Given the description of an element on the screen output the (x, y) to click on. 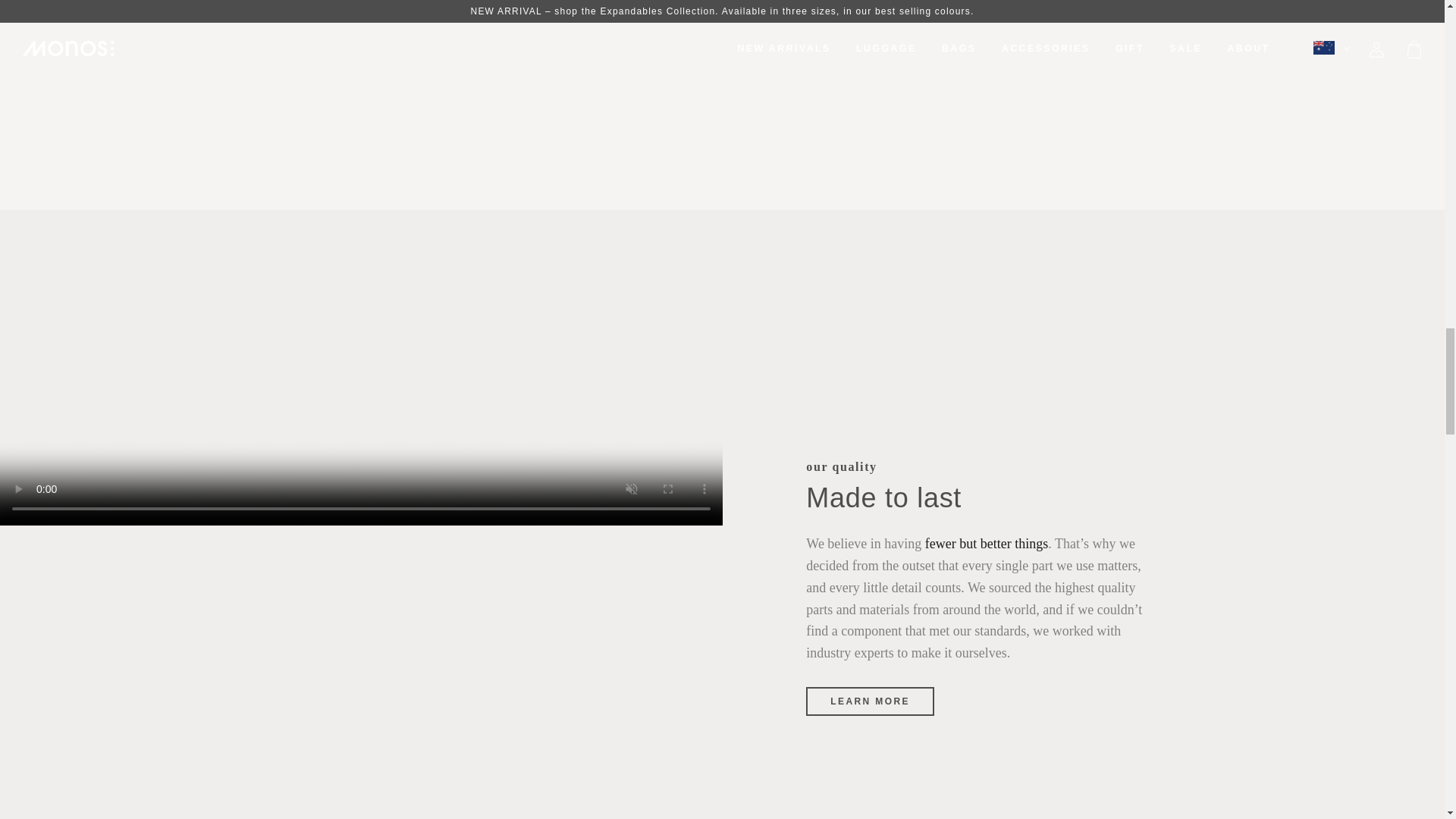
Sustainability (986, 543)
